Given the description of an element on the screen output the (x, y) to click on. 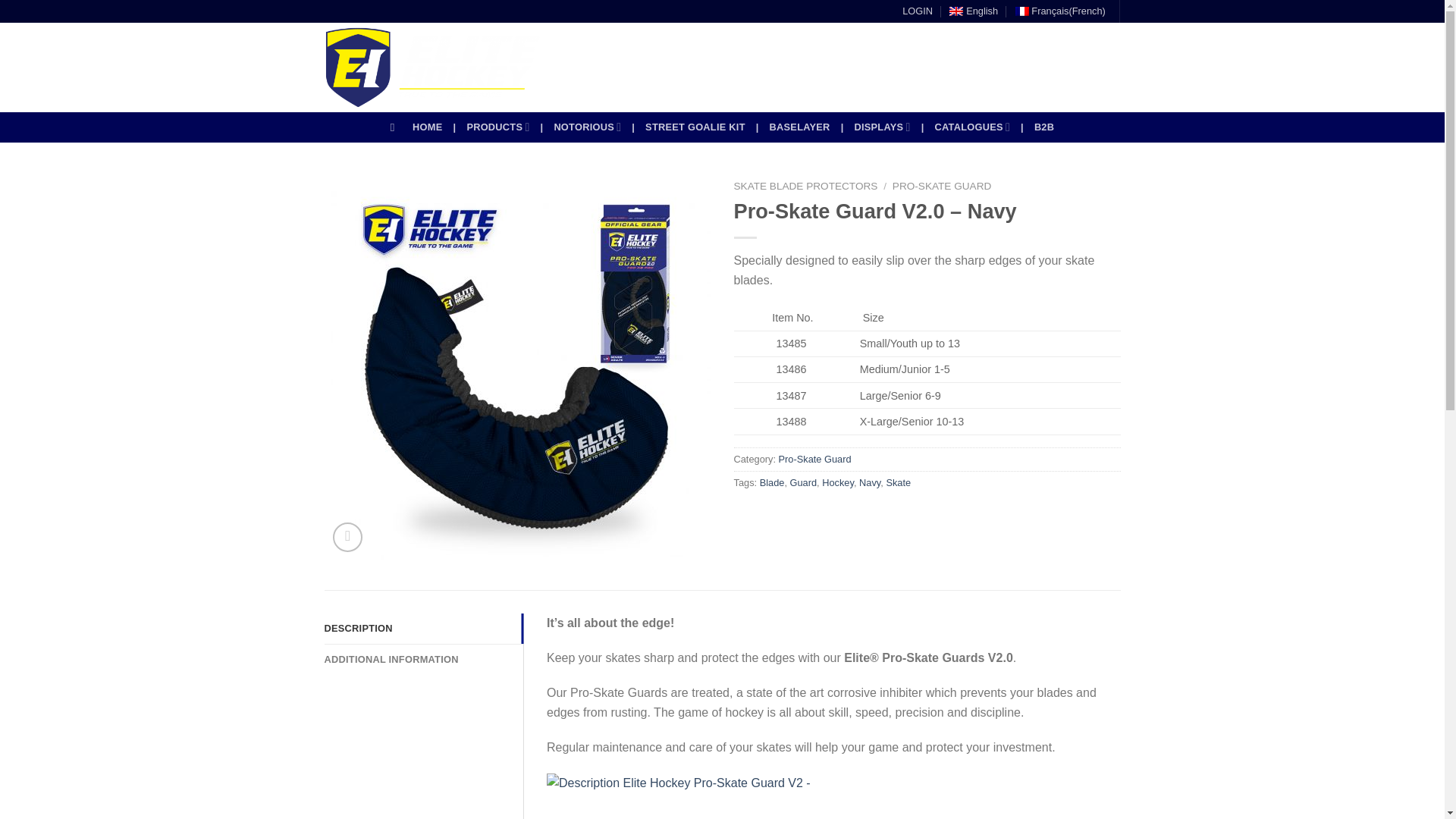
French (1059, 11)
LOGIN (917, 11)
Elite Hockey - TRUE TO THE GAME (432, 67)
English (973, 11)
HOME (427, 126)
NOTORIOUS (587, 126)
PRODUCTS (497, 126)
Zoom (347, 537)
English (973, 11)
